Given the description of an element on the screen output the (x, y) to click on. 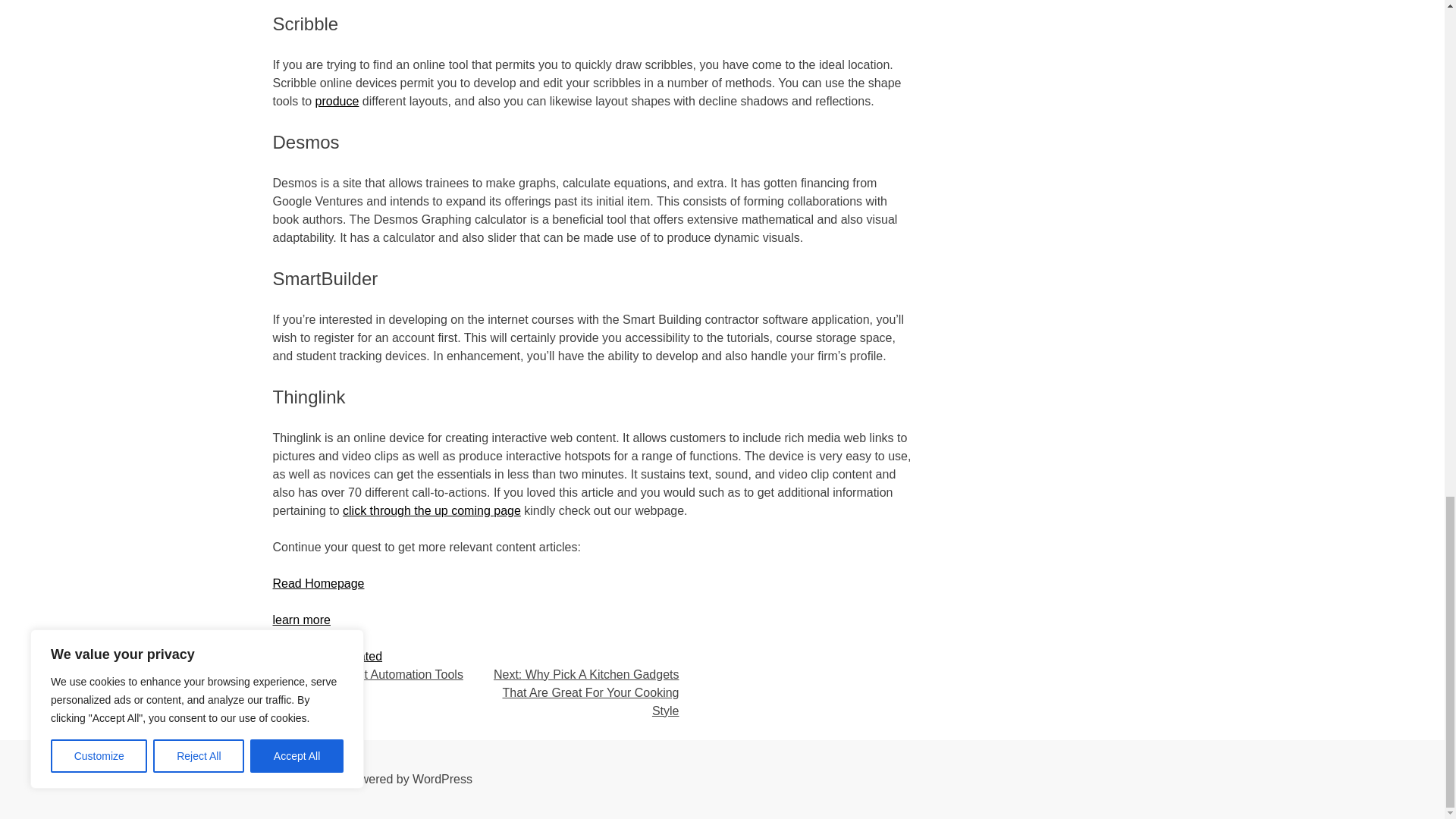
produce (337, 101)
learn more (301, 619)
click through the up coming page (431, 510)
Previous: Internet Automation Tools (368, 674)
Read Homepage (319, 583)
